Given the description of an element on the screen output the (x, y) to click on. 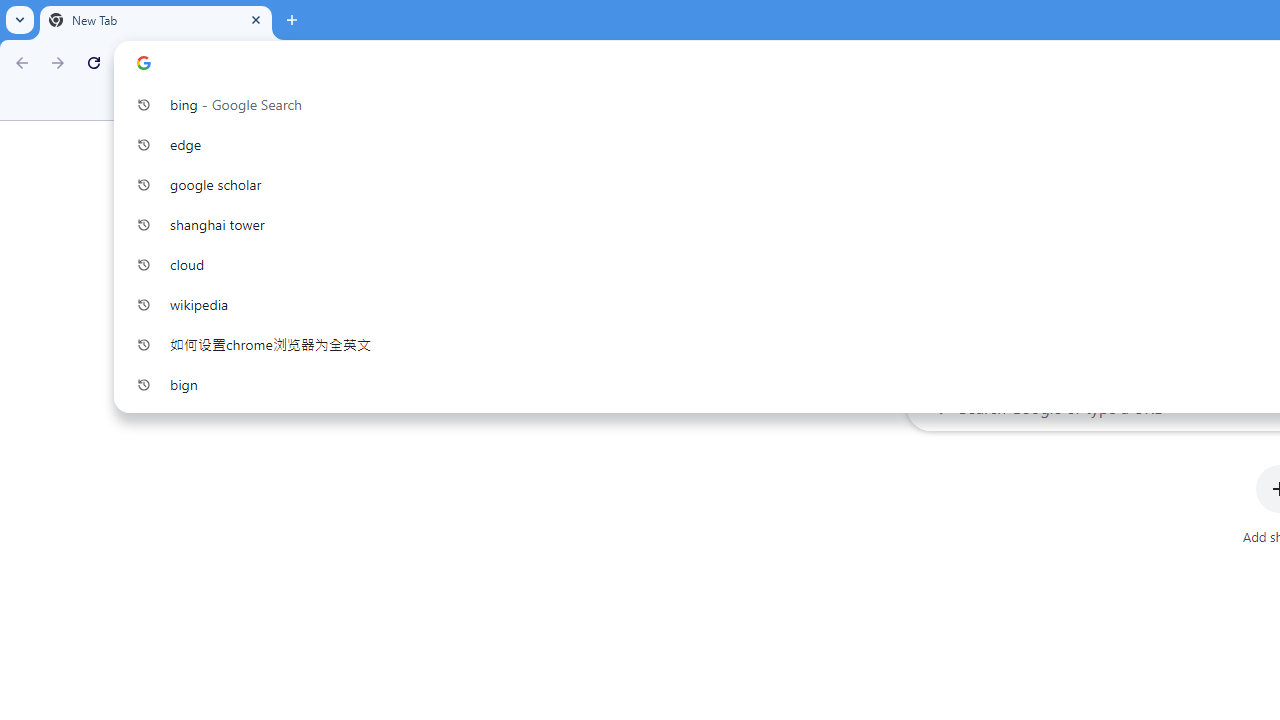
New Tab (156, 20)
Search icon (143, 62)
